Given the description of an element on the screen output the (x, y) to click on. 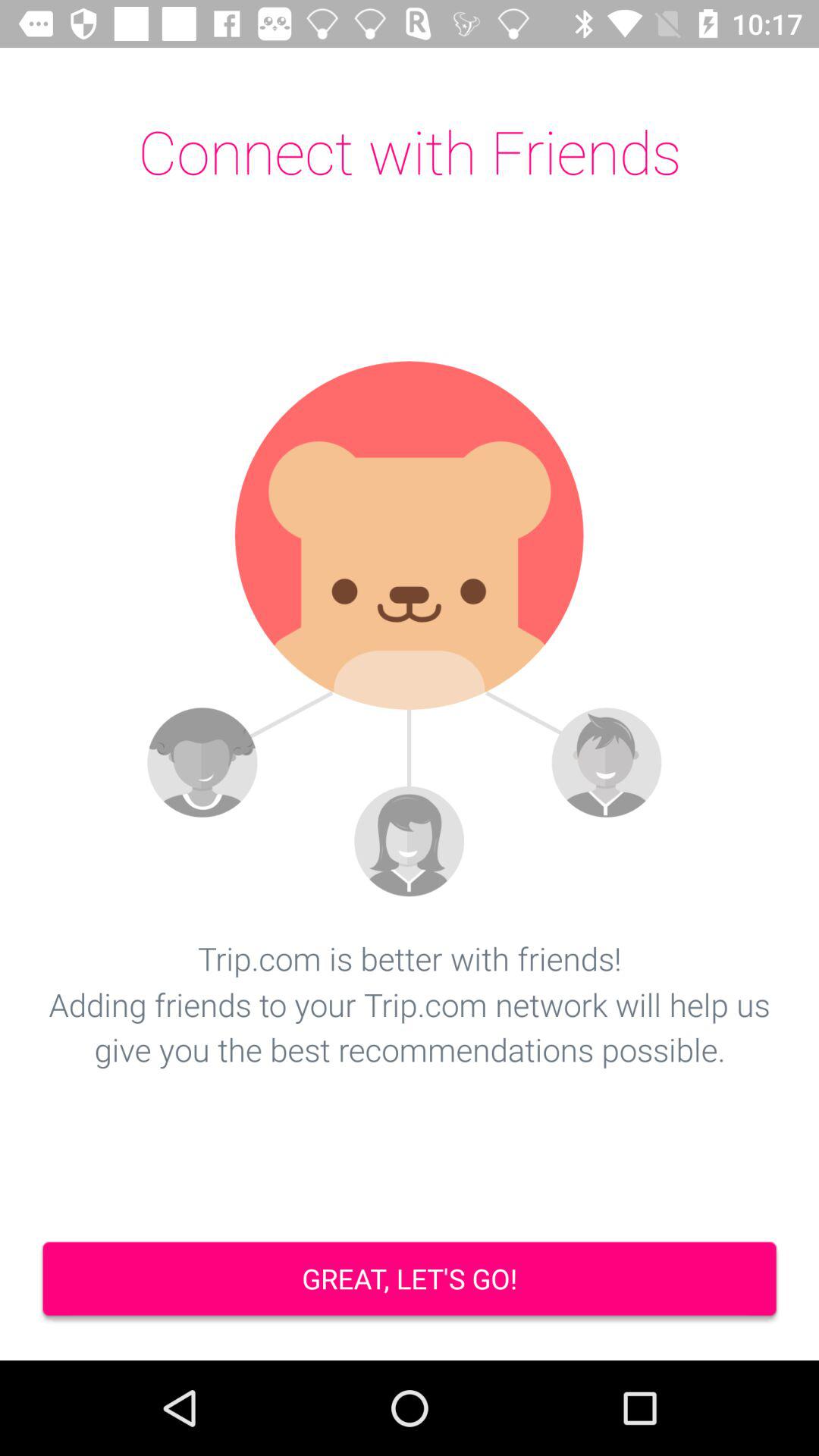
choose icon below trip com is item (409, 1280)
